Given the description of an element on the screen output the (x, y) to click on. 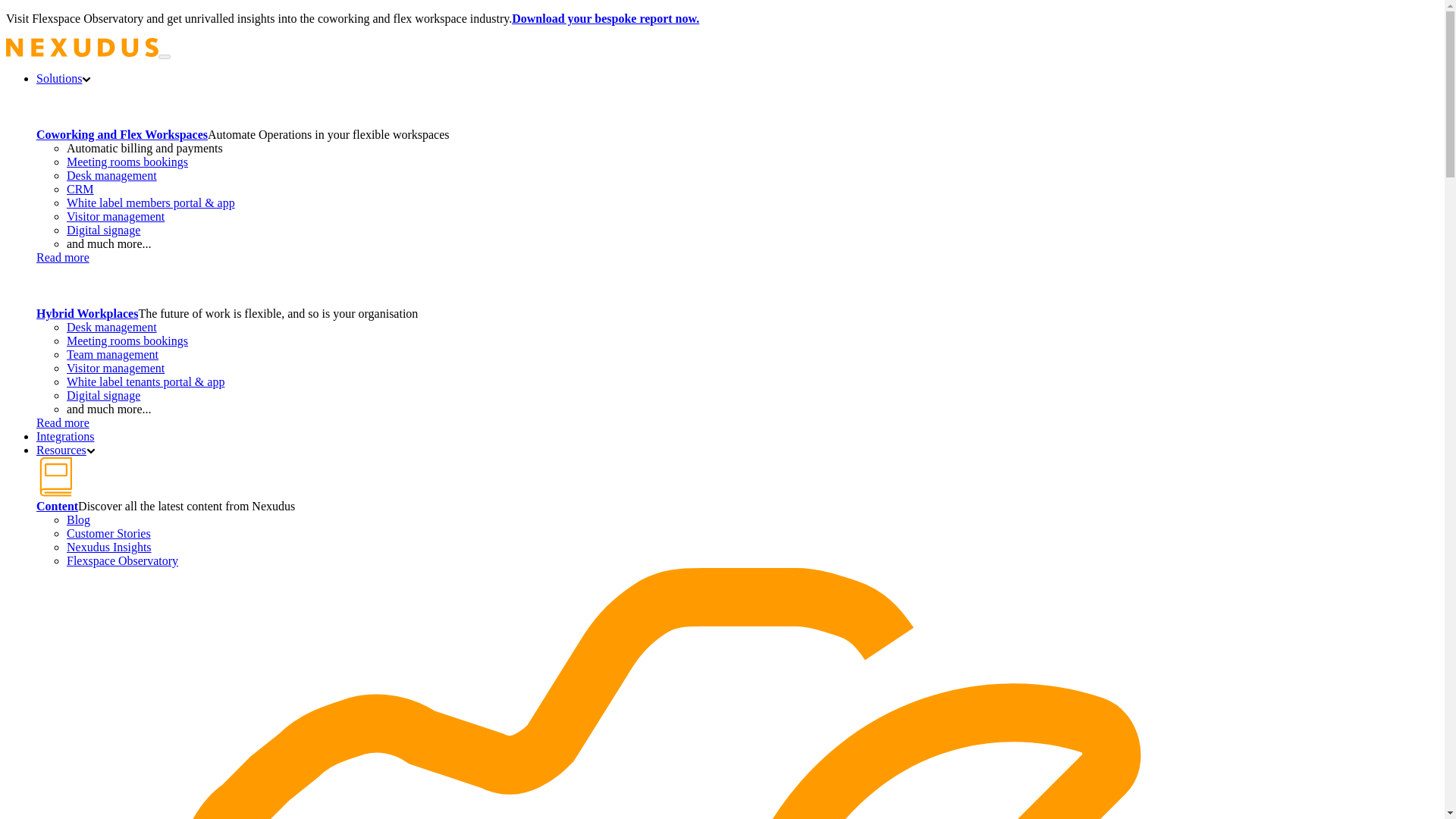
Customer Stories (108, 533)
Meeting rooms bookings (126, 340)
Coworking and Flex Workspaces (122, 133)
Blog (78, 519)
Visitor management (115, 215)
Desk management (111, 174)
Hybrid Workplaces (87, 313)
Download your bespoke report now. (605, 18)
Content (57, 505)
Resources (66, 449)
